Given the description of an element on the screen output the (x, y) to click on. 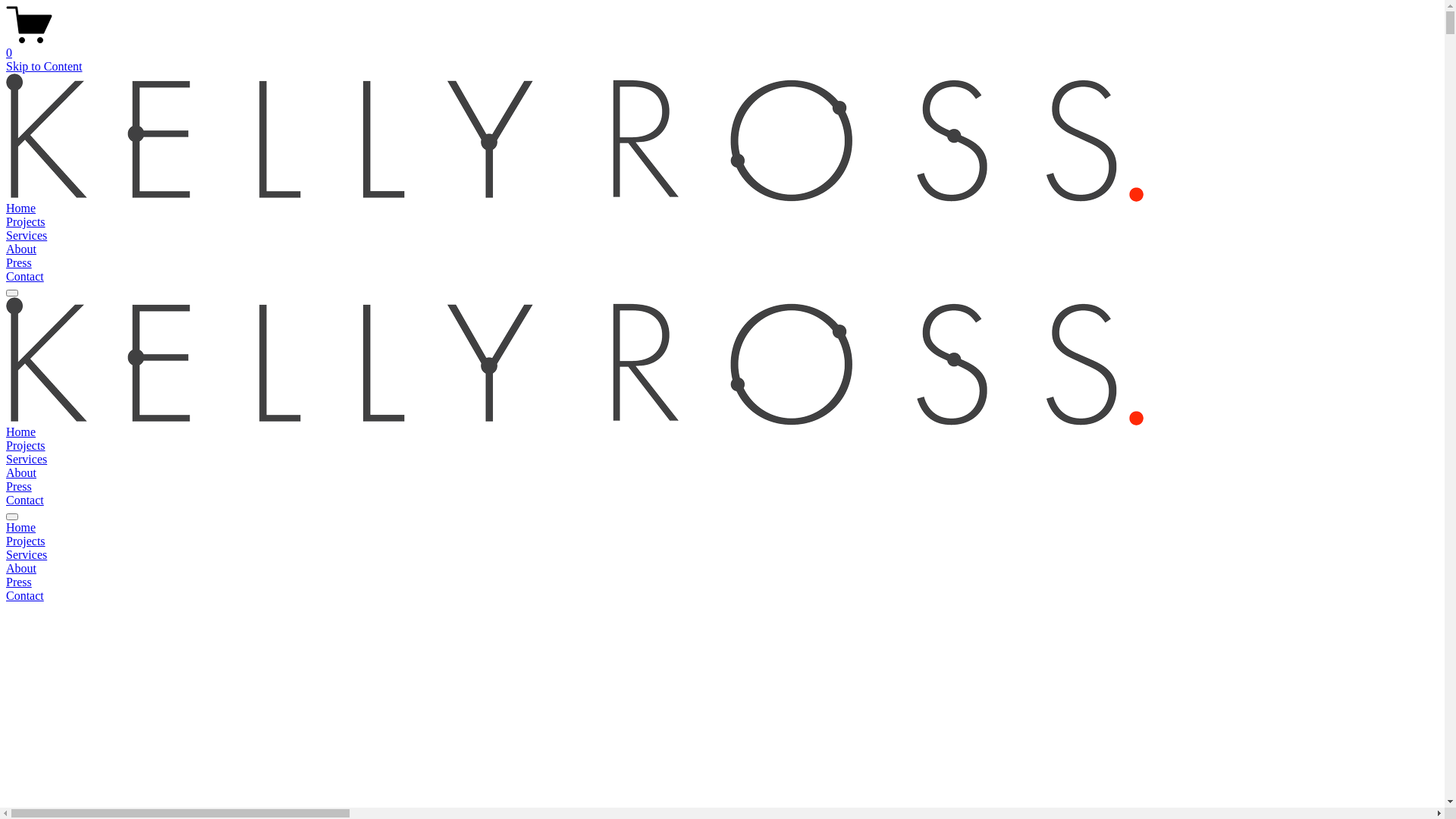
About Element type: text (722, 568)
Contact Element type: text (24, 275)
Projects Element type: text (25, 445)
Press Element type: text (18, 262)
Projects Element type: text (722, 541)
Services Element type: text (26, 235)
Skip to Content Element type: text (43, 65)
Services Element type: text (26, 458)
About Element type: text (21, 472)
About Element type: text (21, 248)
Contact Element type: text (24, 499)
Home Element type: text (20, 207)
Home Element type: text (722, 527)
Projects Element type: text (25, 221)
Contact Element type: text (722, 595)
Services Element type: text (722, 554)
Press Element type: text (18, 486)
0 Element type: text (722, 45)
Press Element type: text (722, 582)
Home Element type: text (20, 431)
